Given the description of an element on the screen output the (x, y) to click on. 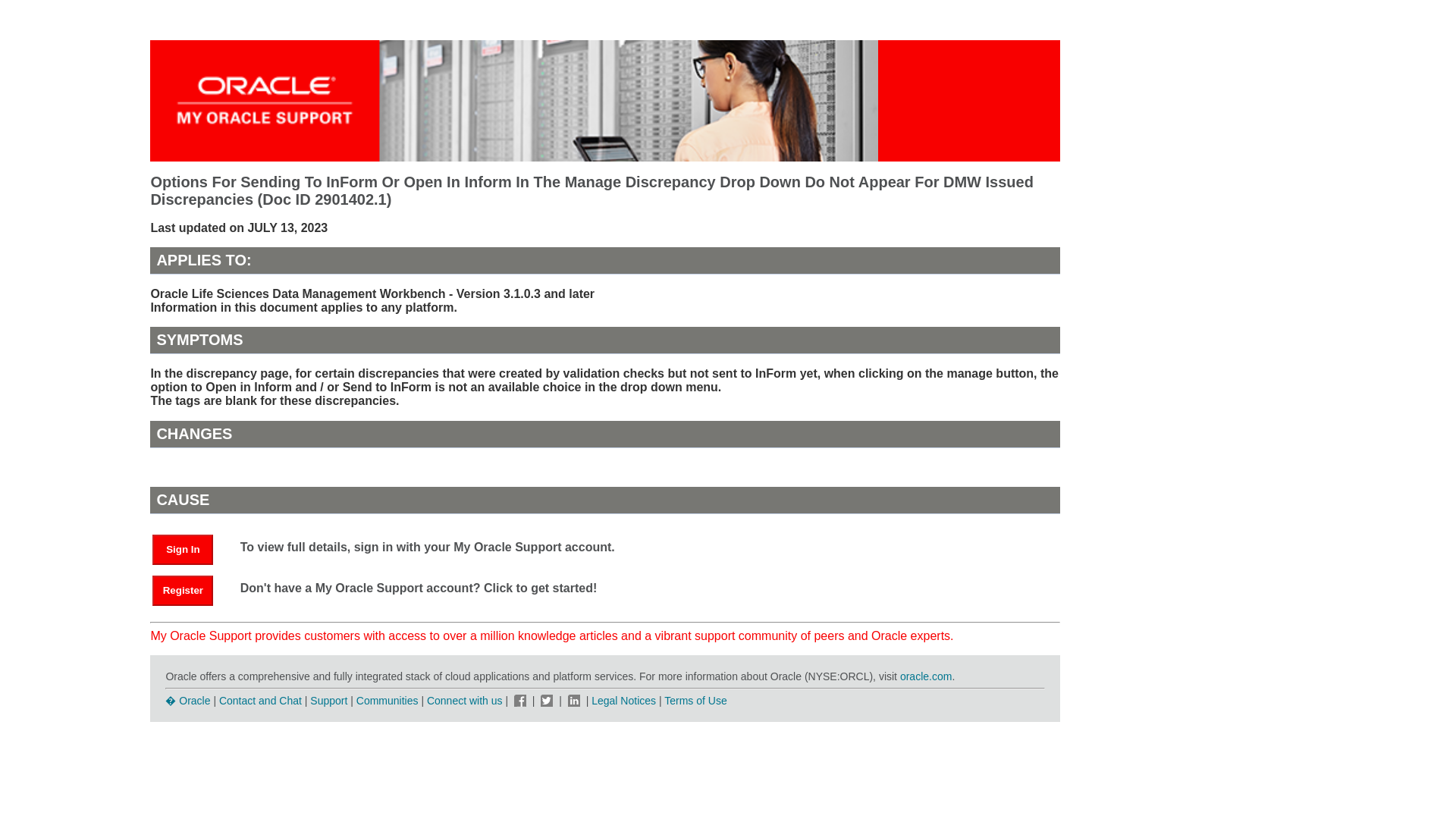
Terms of Use (694, 700)
Connect with us (465, 700)
Register (190, 589)
oracle.com (925, 676)
Legal Notices (623, 700)
Sign In (182, 549)
Register (182, 590)
Sign In (190, 548)
Support (328, 700)
Contact and Chat (260, 700)
oracle.com (925, 676)
Communities (387, 700)
